Given the description of an element on the screen output the (x, y) to click on. 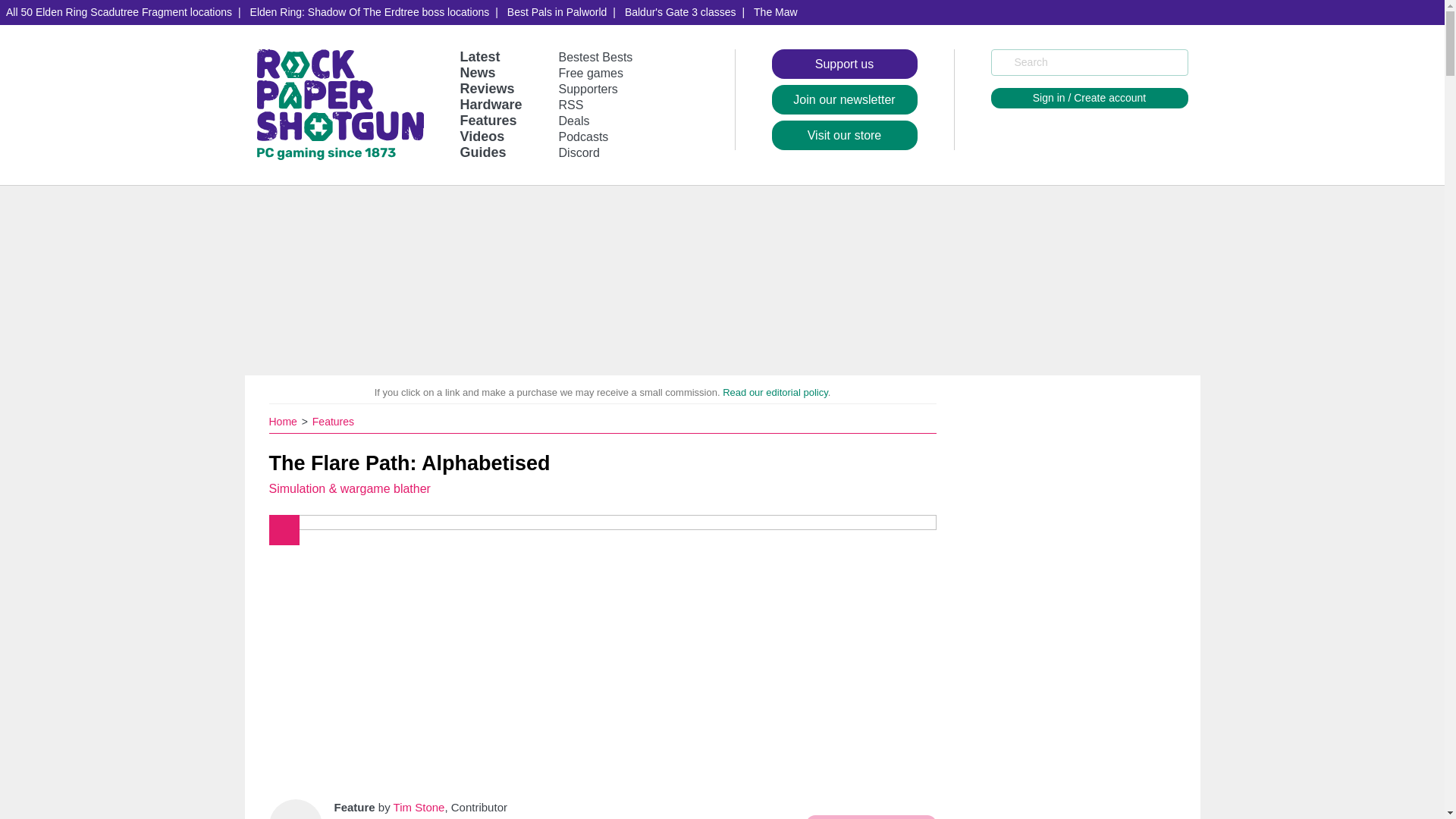
Latest (479, 56)
Videos (481, 136)
RSS (571, 104)
Best Pals in Palworld (556, 12)
News (477, 72)
All 50 Elden Ring Scadutree Fragment locations (119, 12)
Baldur's Gate 3 classes (680, 12)
Home (283, 421)
The Maw (775, 12)
Videos (481, 136)
